Given the description of an element on the screen output the (x, y) to click on. 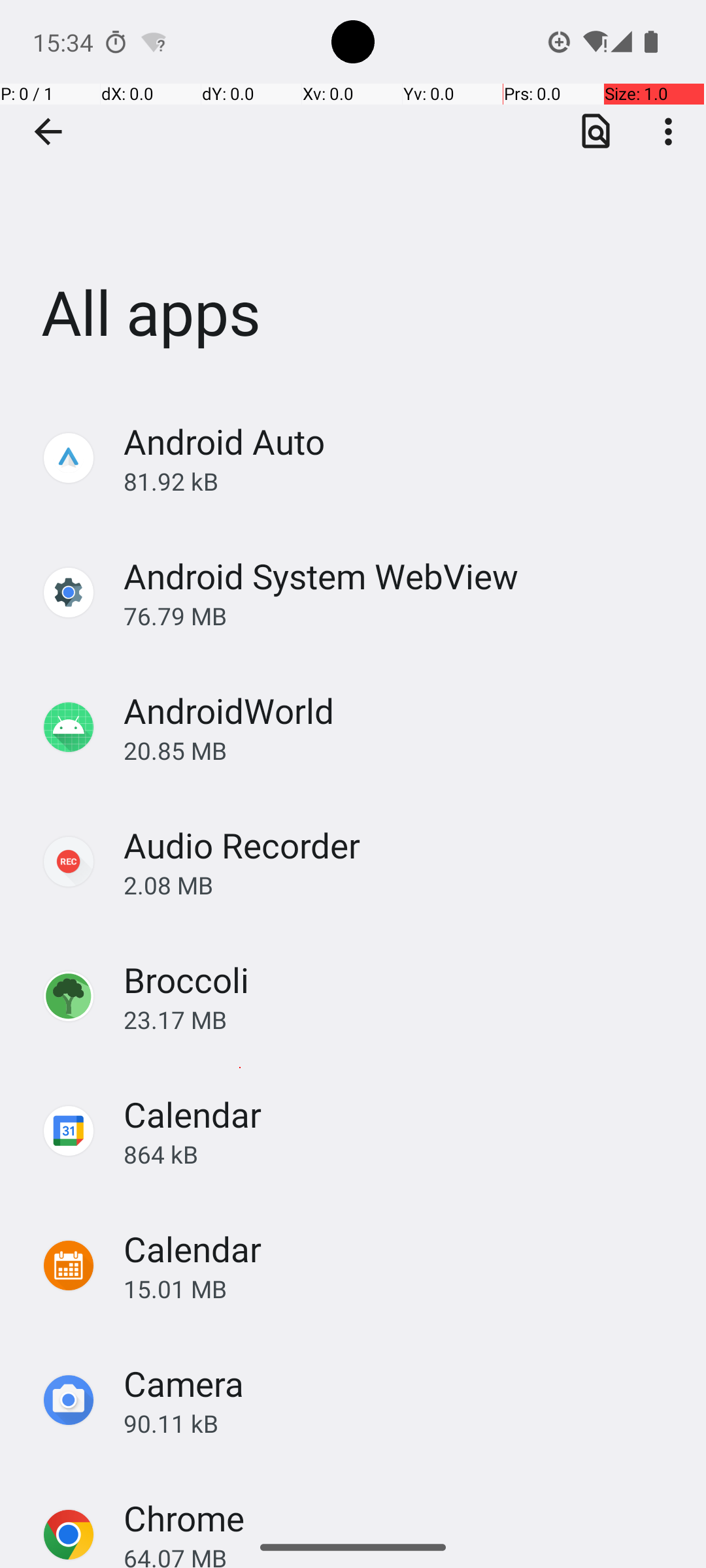
All apps Element type: android.widget.FrameLayout (353, 195)
81.92 kB Element type: android.widget.TextView (400, 480)
76.79 MB Element type: android.widget.TextView (400, 615)
20.85 MB Element type: android.widget.TextView (400, 750)
2.08 MB Element type: android.widget.TextView (400, 884)
23.17 MB Element type: android.widget.TextView (400, 1019)
864 kB Element type: android.widget.TextView (400, 1153)
15.01 MB Element type: android.widget.TextView (400, 1288)
90.11 kB Element type: android.widget.TextView (400, 1422)
